Given the description of an element on the screen output the (x, y) to click on. 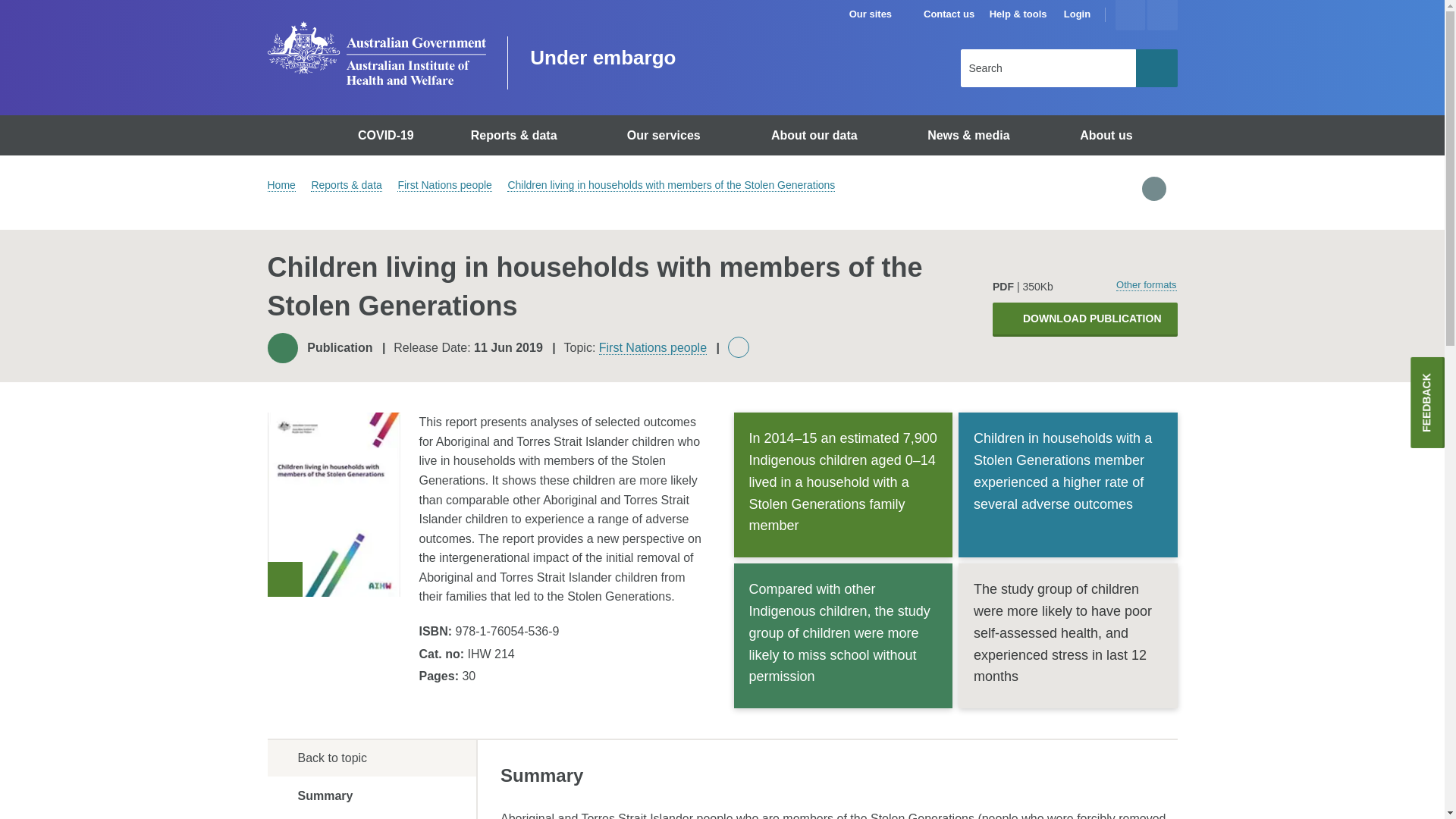
Decrease text size (1162, 15)
COVID-19 (388, 135)
Contact us (948, 14)
Our sites (877, 14)
Search (1156, 67)
Australian Institute of Health and Welfare (375, 53)
Increase text size (1130, 15)
Login (1077, 14)
